Given the description of an element on the screen output the (x, y) to click on. 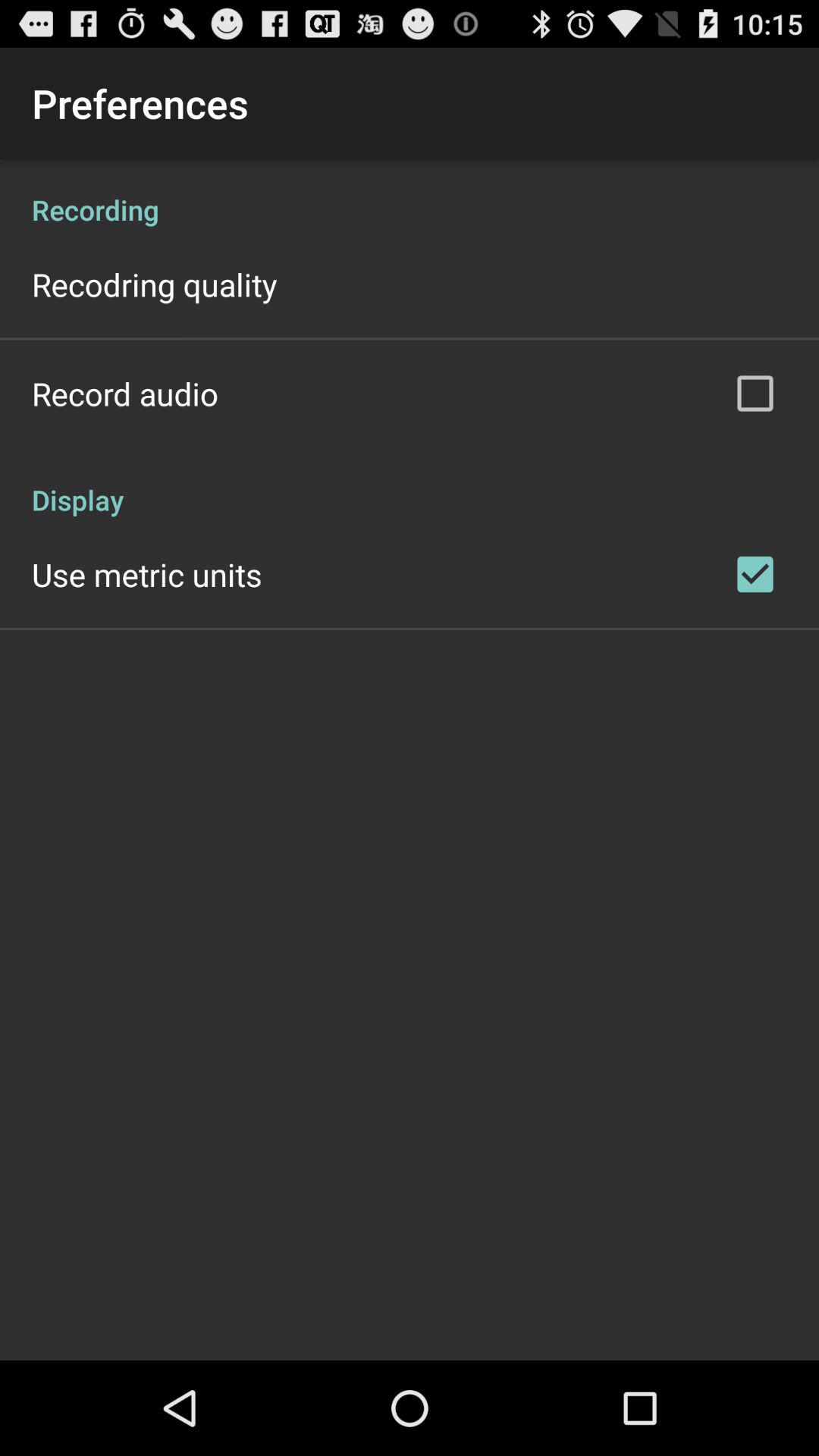
open recording icon (409, 193)
